Given the description of an element on the screen output the (x, y) to click on. 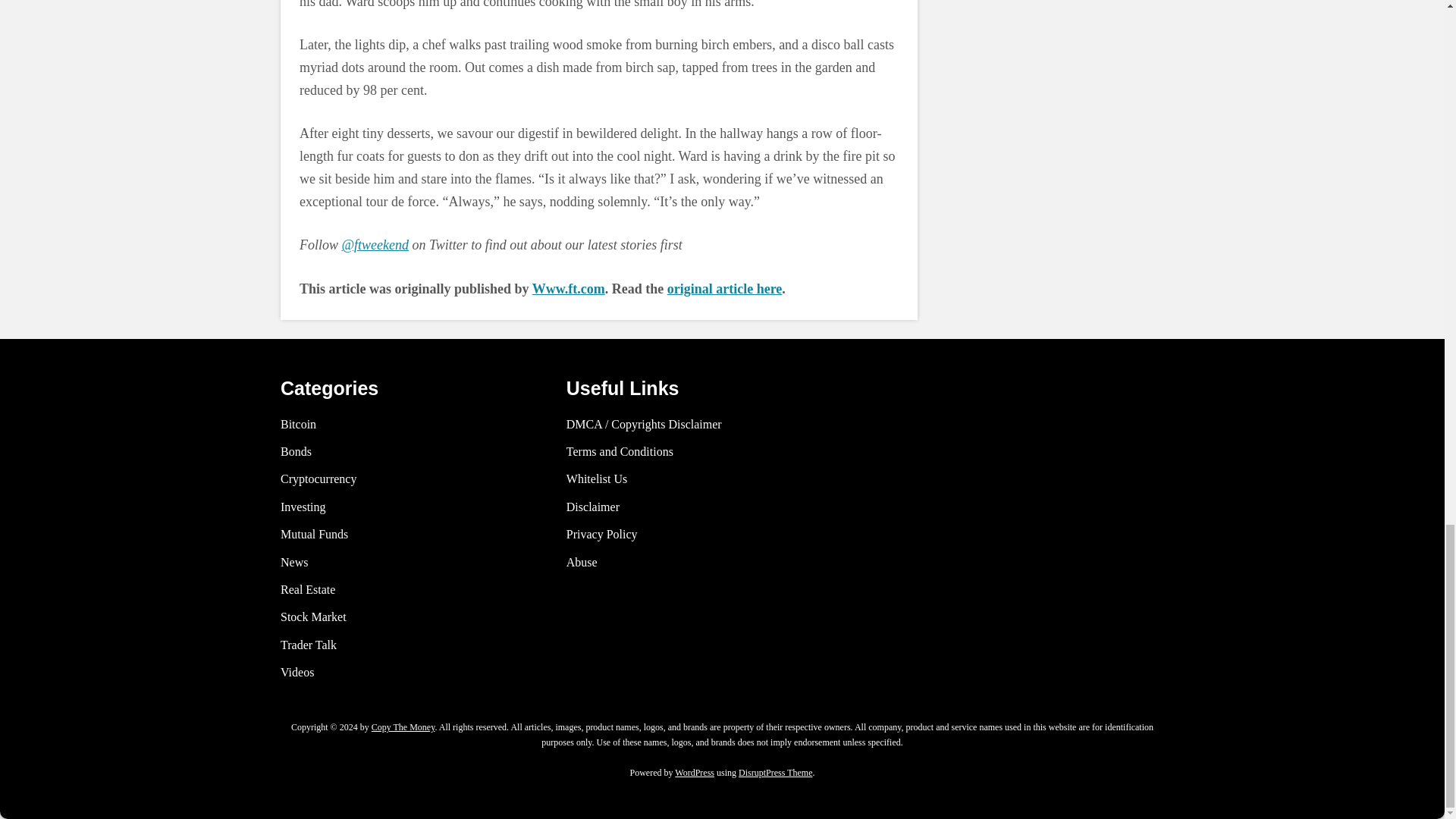
Www.ft.com (568, 288)
